Given the description of an element on the screen output the (x, y) to click on. 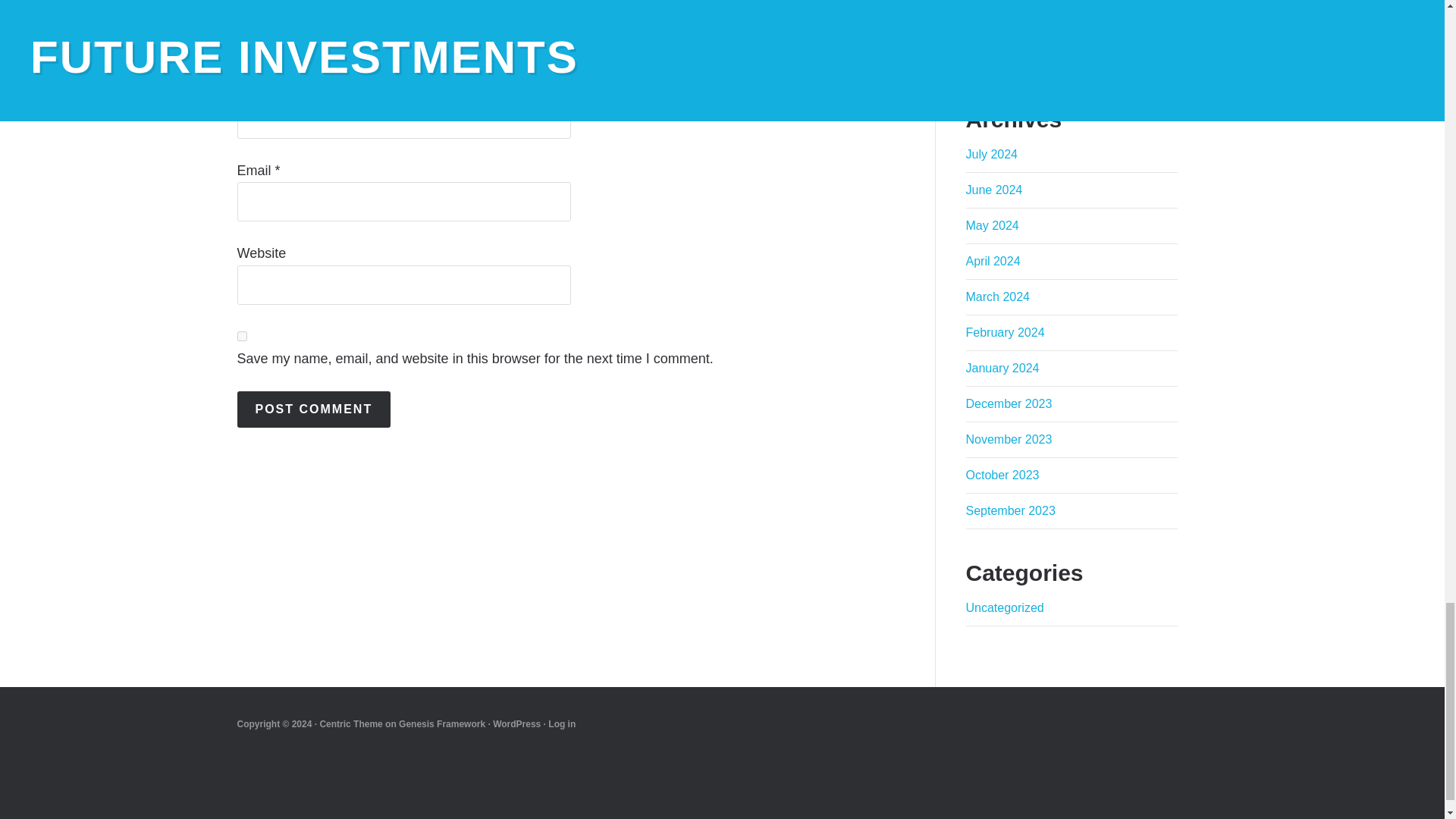
Post Comment (312, 409)
Post Comment (312, 409)
yes (240, 336)
